Given the description of an element on the screen output the (x, y) to click on. 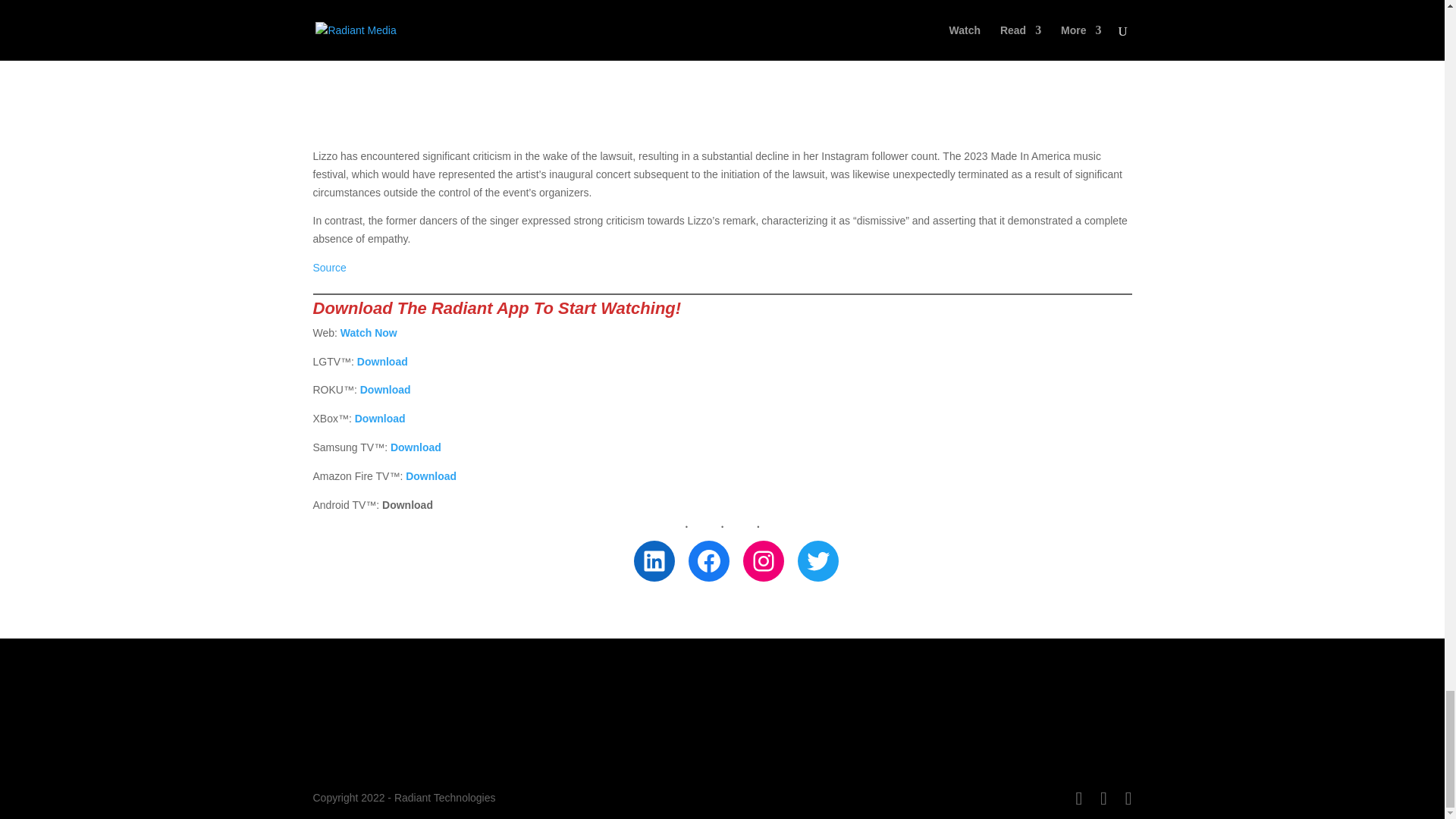
Download (384, 389)
Source (329, 267)
Download (380, 418)
LinkedIn (654, 560)
Watch Now (368, 332)
Download (381, 361)
Download (431, 476)
Download (415, 447)
